Given the description of an element on the screen output the (x, y) to click on. 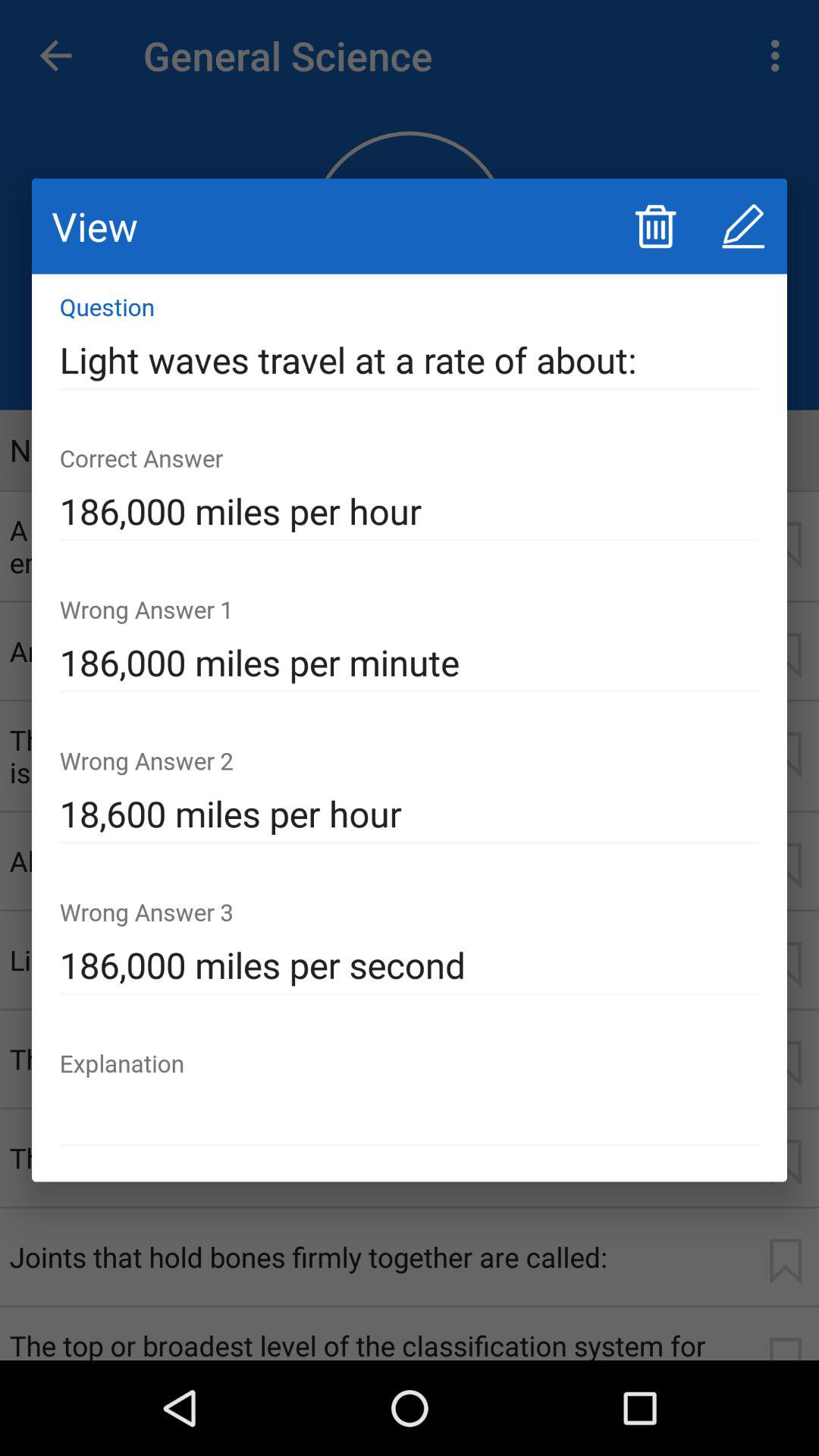
jump to light waves travel item (409, 360)
